Given the description of an element on the screen output the (x, y) to click on. 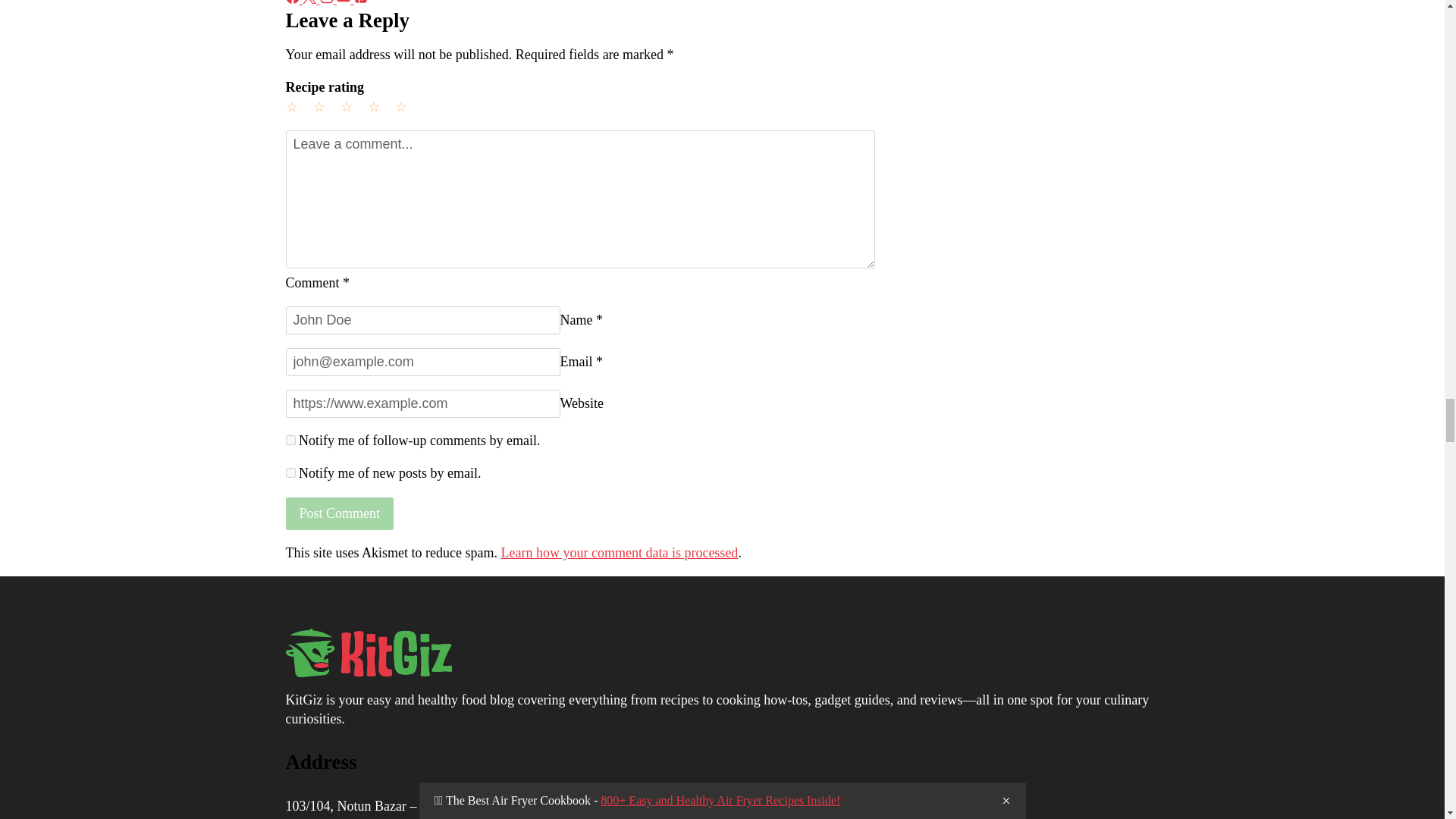
subscribe (290, 472)
subscribe (290, 439)
Post Comment (339, 513)
